Given the description of an element on the screen output the (x, y) to click on. 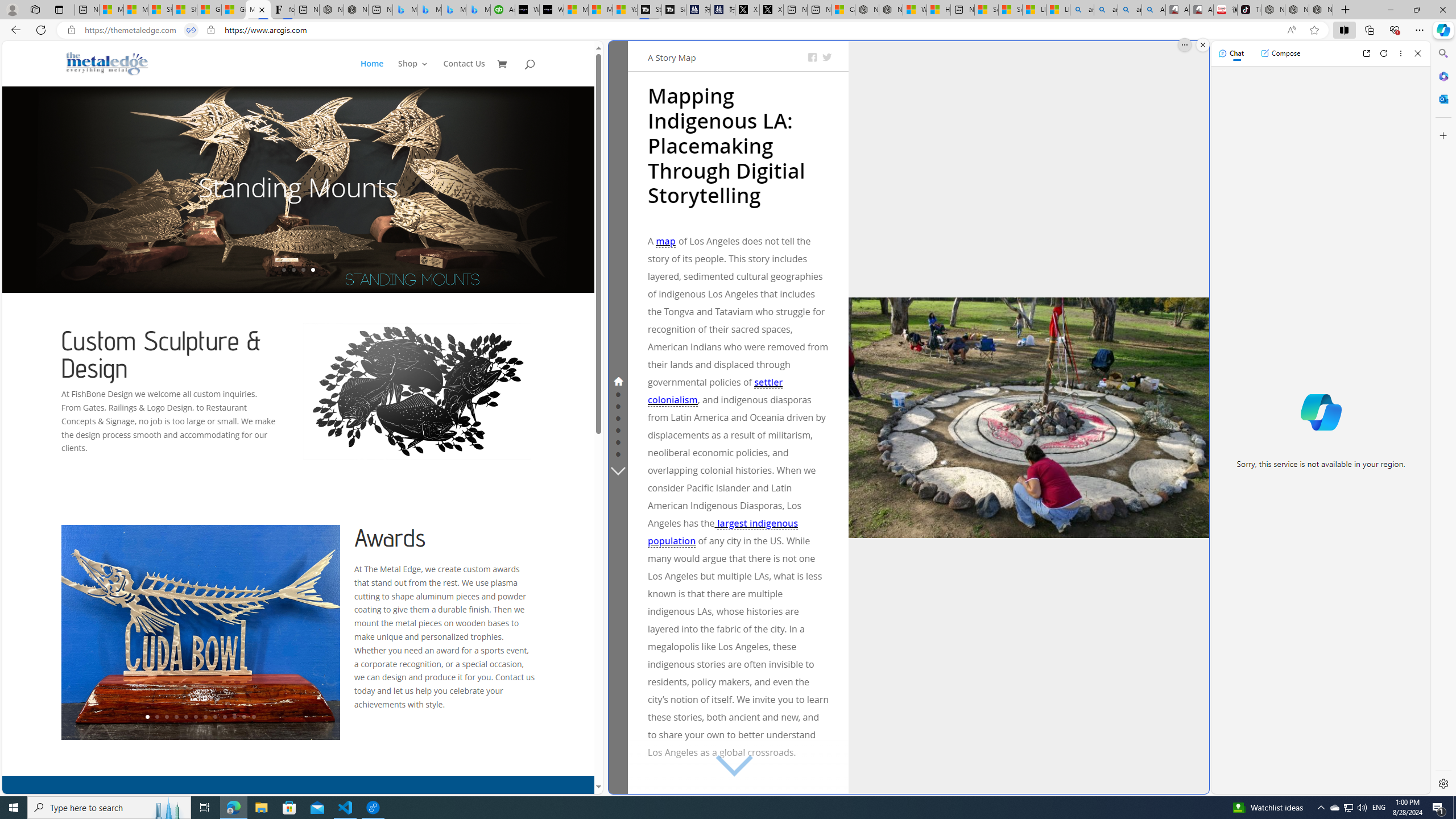
Restore (1416, 9)
